Given the description of an element on the screen output the (x, y) to click on. 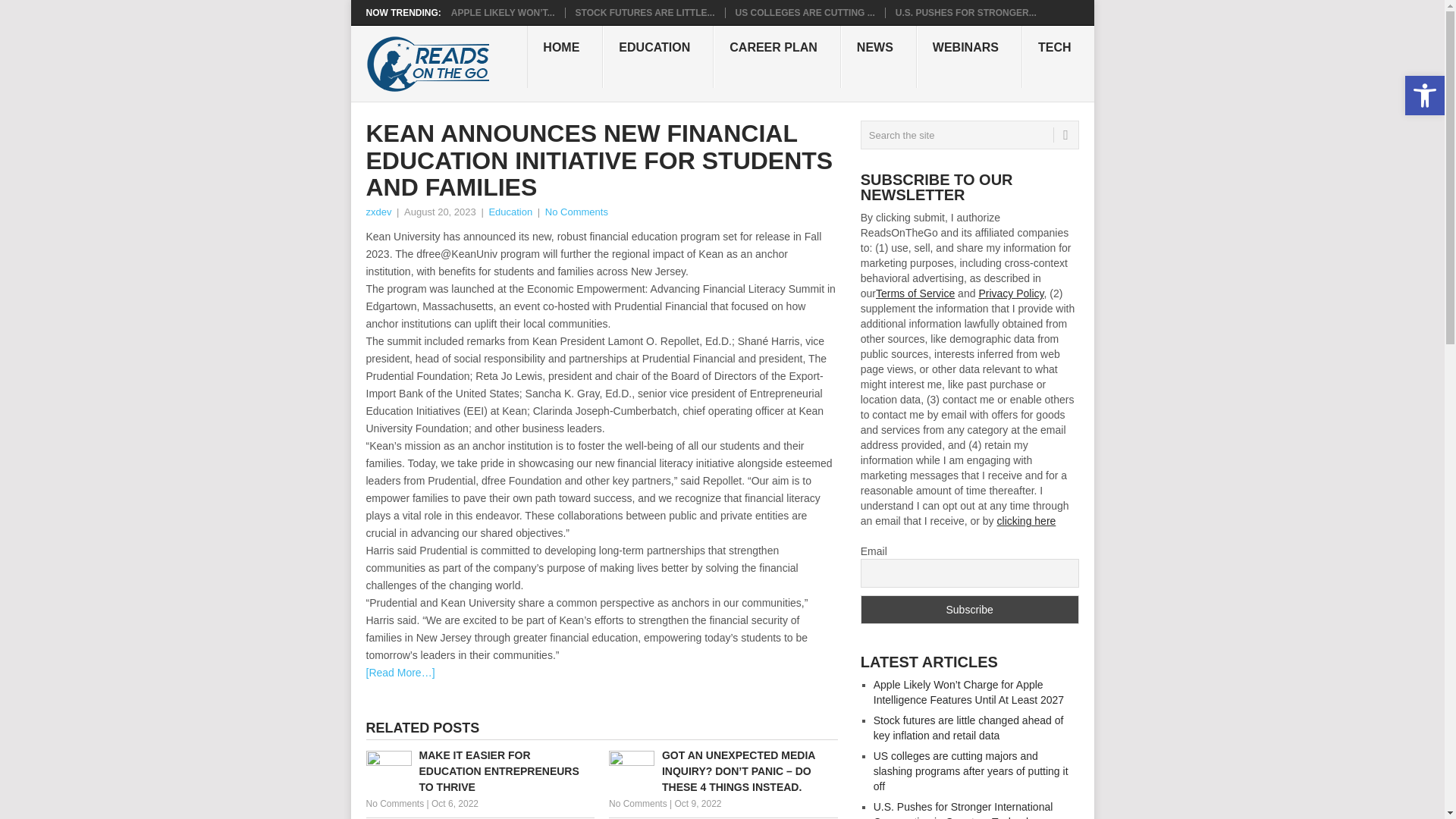
HOME (564, 56)
No Comments (637, 803)
Make it easier for education entrepreneurs to thrive (479, 771)
MAKE IT EASIER FOR EDUCATION ENTREPRENEURS TO THRIVE (479, 771)
WEBINARS (969, 56)
STOCK FUTURES ARE LITTLE... (644, 12)
EDUCATION (657, 56)
CAREER PLAN (777, 56)
